Given the description of an element on the screen output the (x, y) to click on. 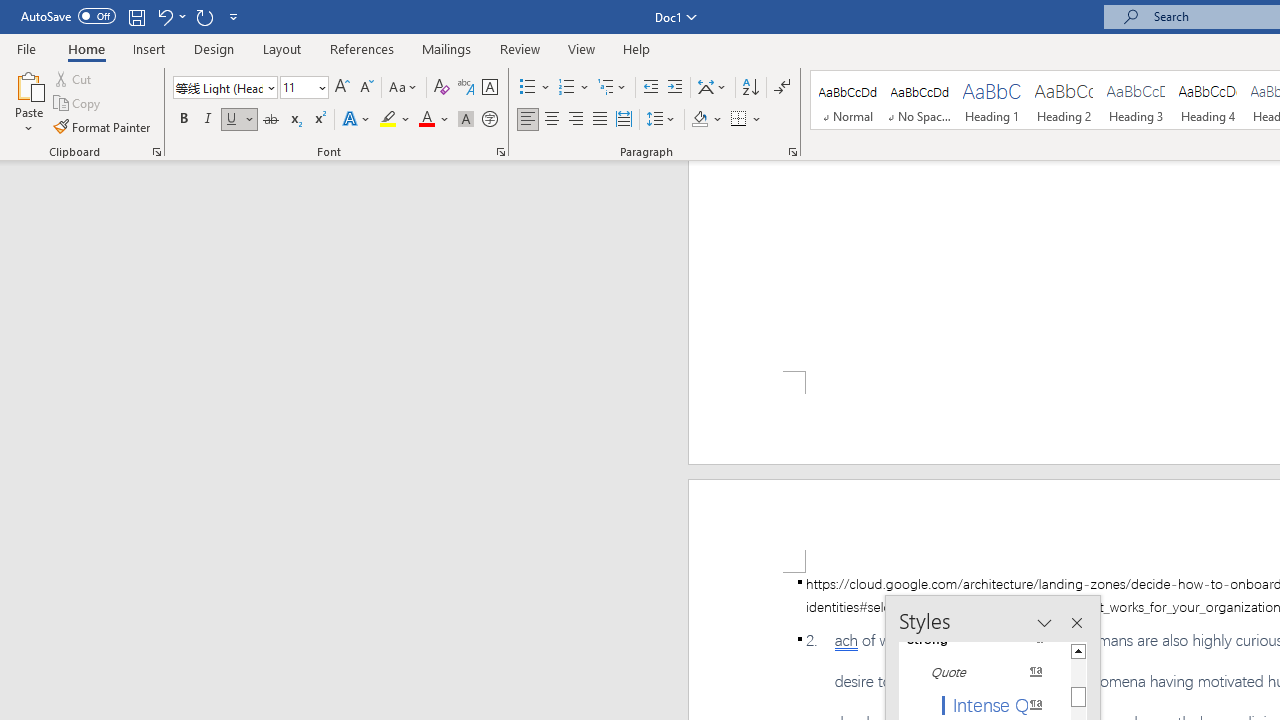
Undo Style (170, 15)
Copy (78, 103)
Quote (984, 672)
Heading 1 (991, 100)
Clear Formatting (442, 87)
Heading 2 (1063, 100)
Align Right (575, 119)
Italic (207, 119)
Sort... (750, 87)
Font Color Automatic (426, 119)
Superscript (319, 119)
Distributed (623, 119)
Align Left (527, 119)
